Given the description of an element on the screen output the (x, y) to click on. 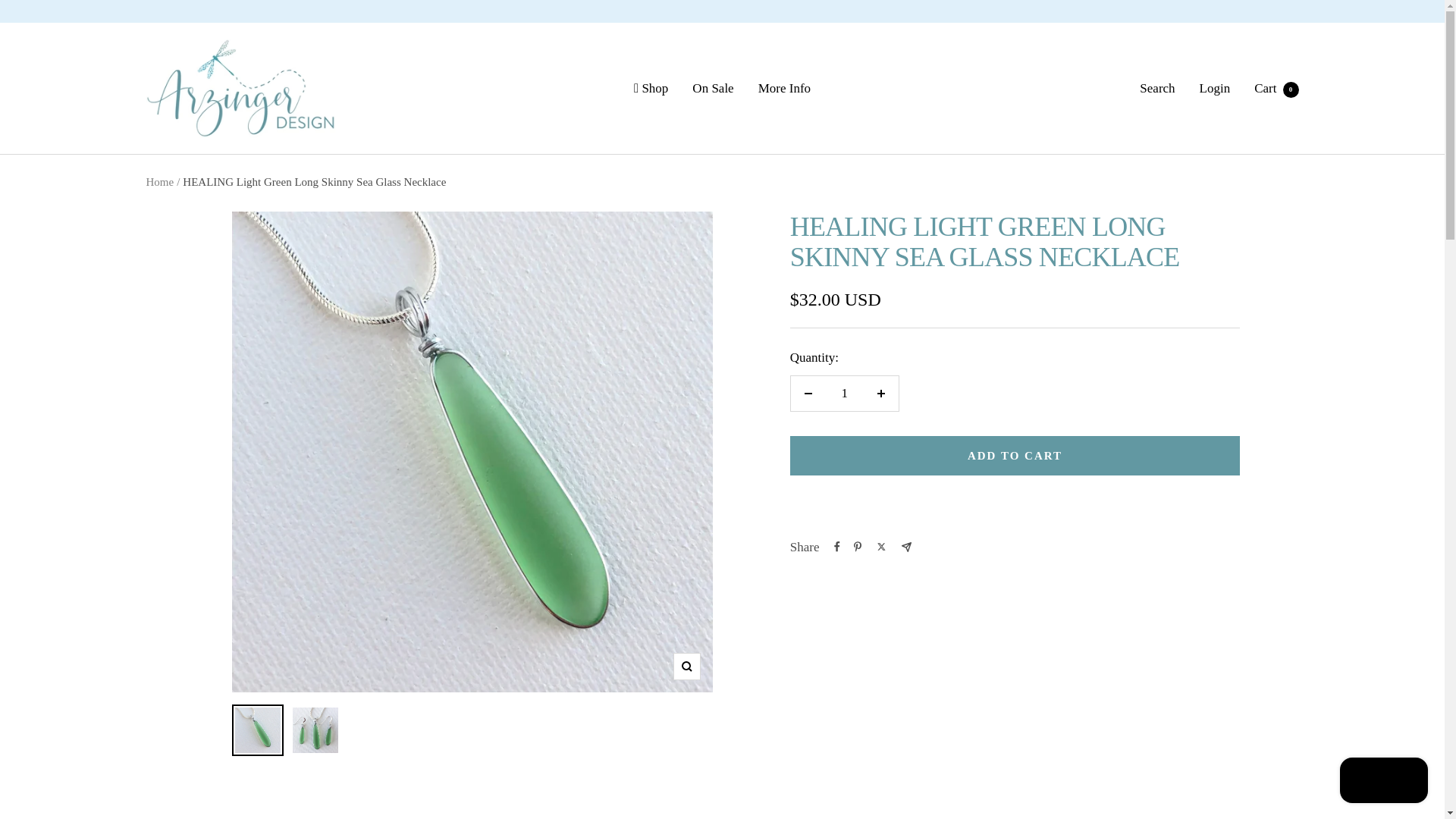
Login (1214, 88)
On Sale (713, 87)
Zoom (686, 666)
Search (1157, 88)
Shopify online store chat (1383, 781)
More Info (784, 87)
Home (159, 182)
Arzinger Design (239, 88)
Increase quantity (1275, 88)
